Given the description of an element on the screen output the (x, y) to click on. 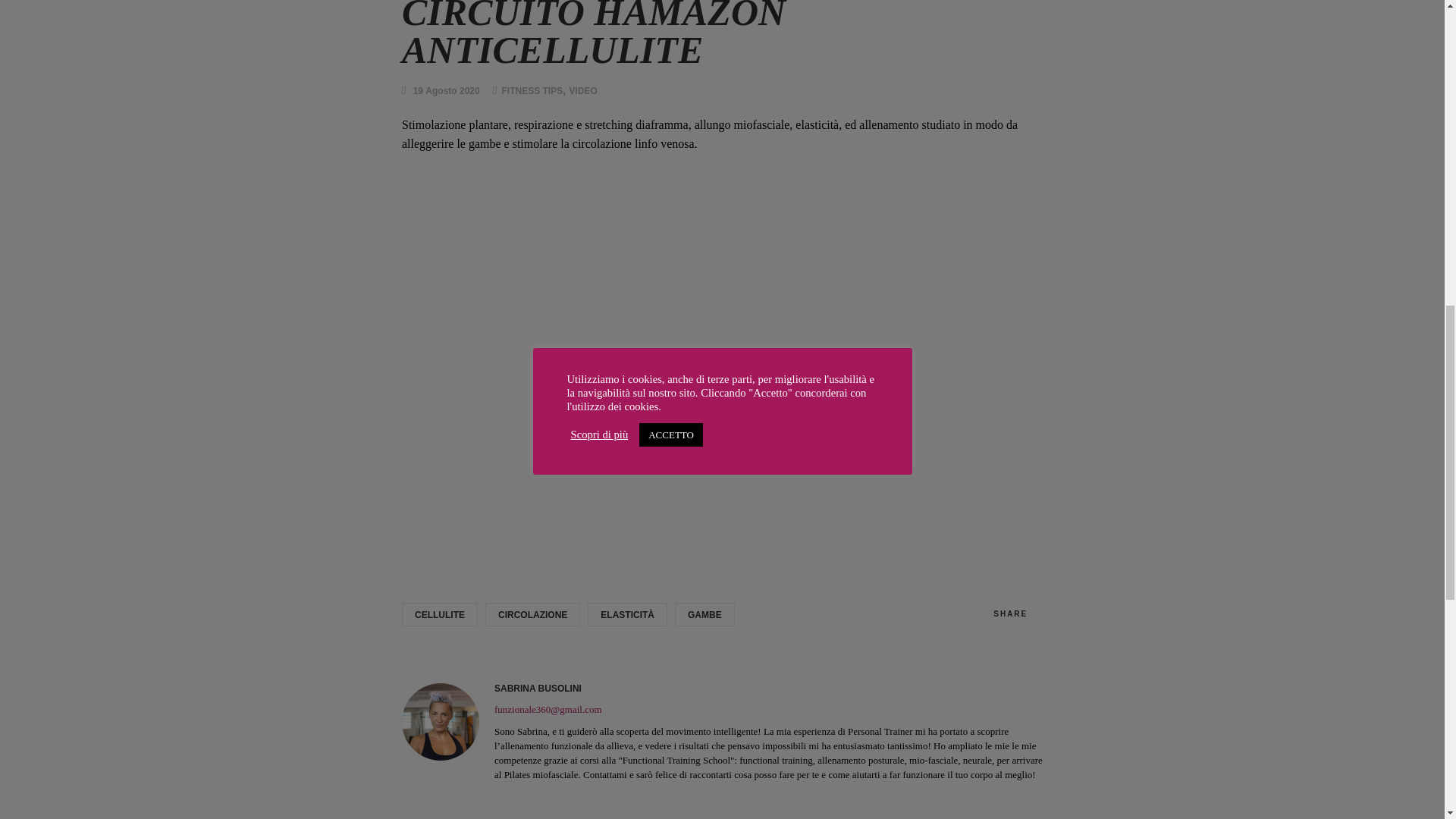
GAMBE (705, 614)
VIDEO (582, 90)
CIRCOLAZIONE (531, 614)
FITNESS TIPS (532, 90)
CELLULITE (439, 614)
